Given the description of an element on the screen output the (x, y) to click on. 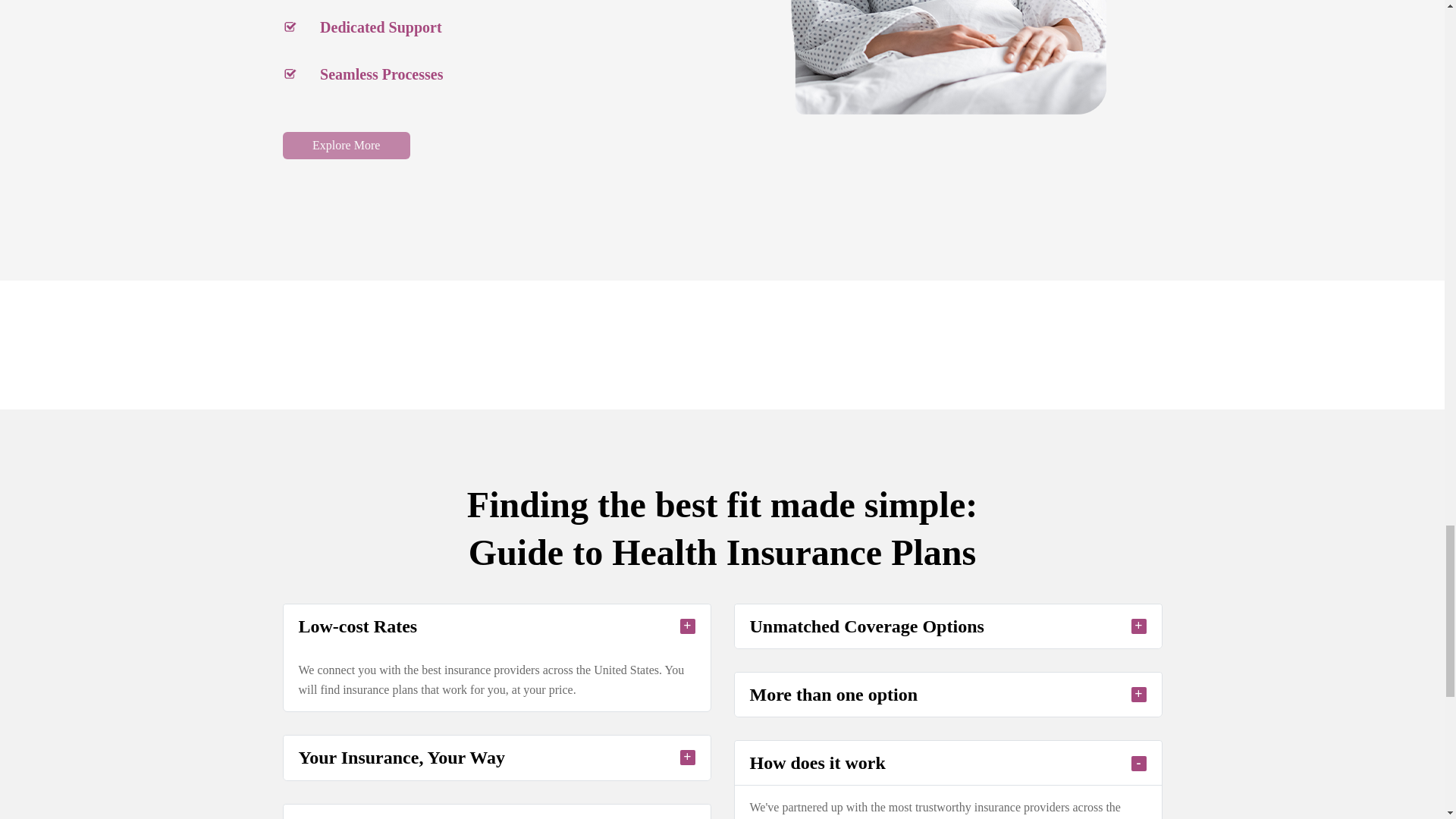
Explore More (345, 144)
Low-cost Rates (496, 626)
More than one option (946, 694)
Unmatched Coverage Options (946, 626)
Your Insurance, Your Way (496, 757)
Individualized Coverage (496, 811)
How does it work (946, 762)
